Given the description of an element on the screen output the (x, y) to click on. 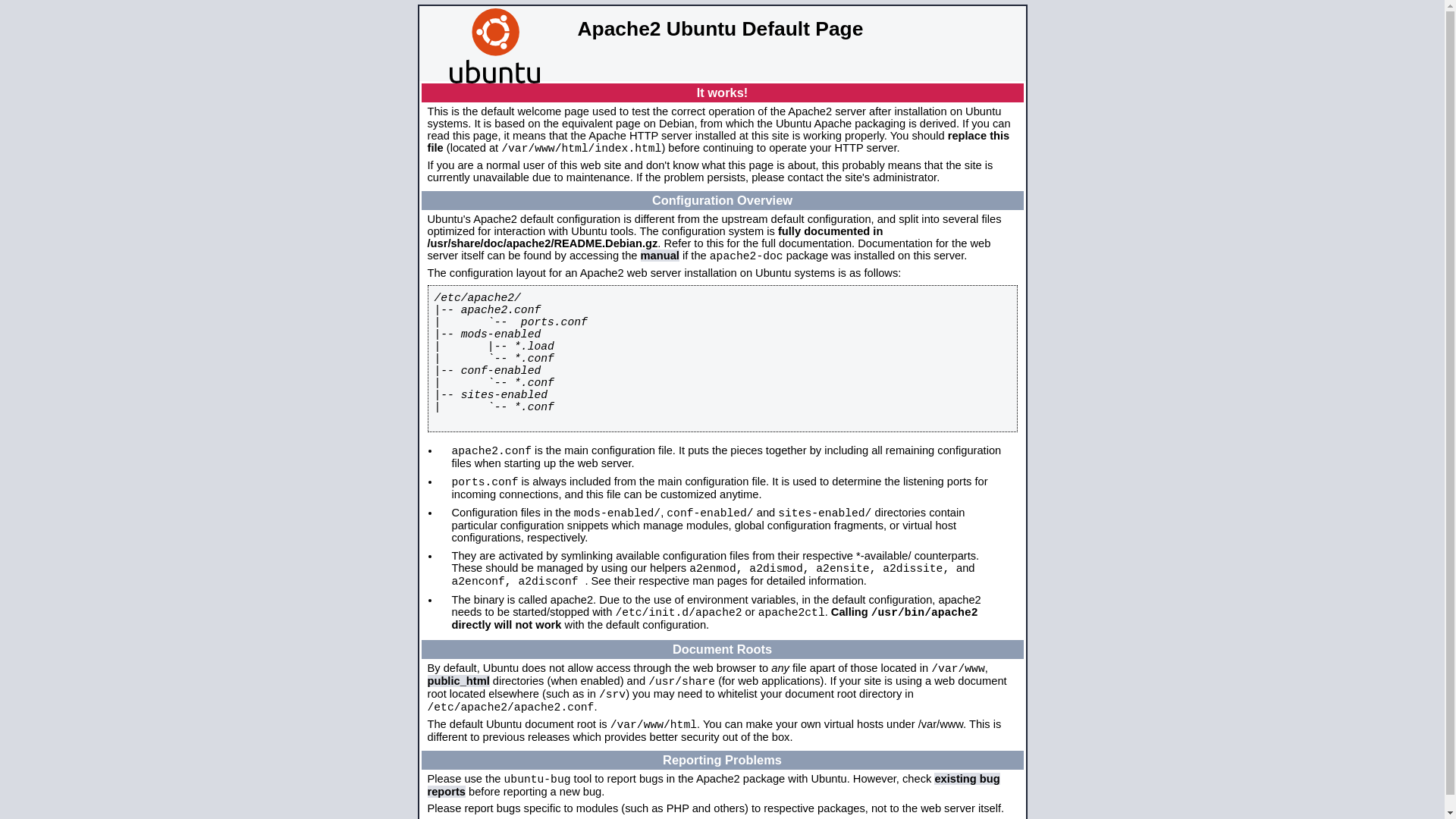
existing bug reports Element type: text (713, 784)
public_html Element type: text (458, 680)
manual Element type: text (659, 255)
